Given the description of an element on the screen output the (x, y) to click on. 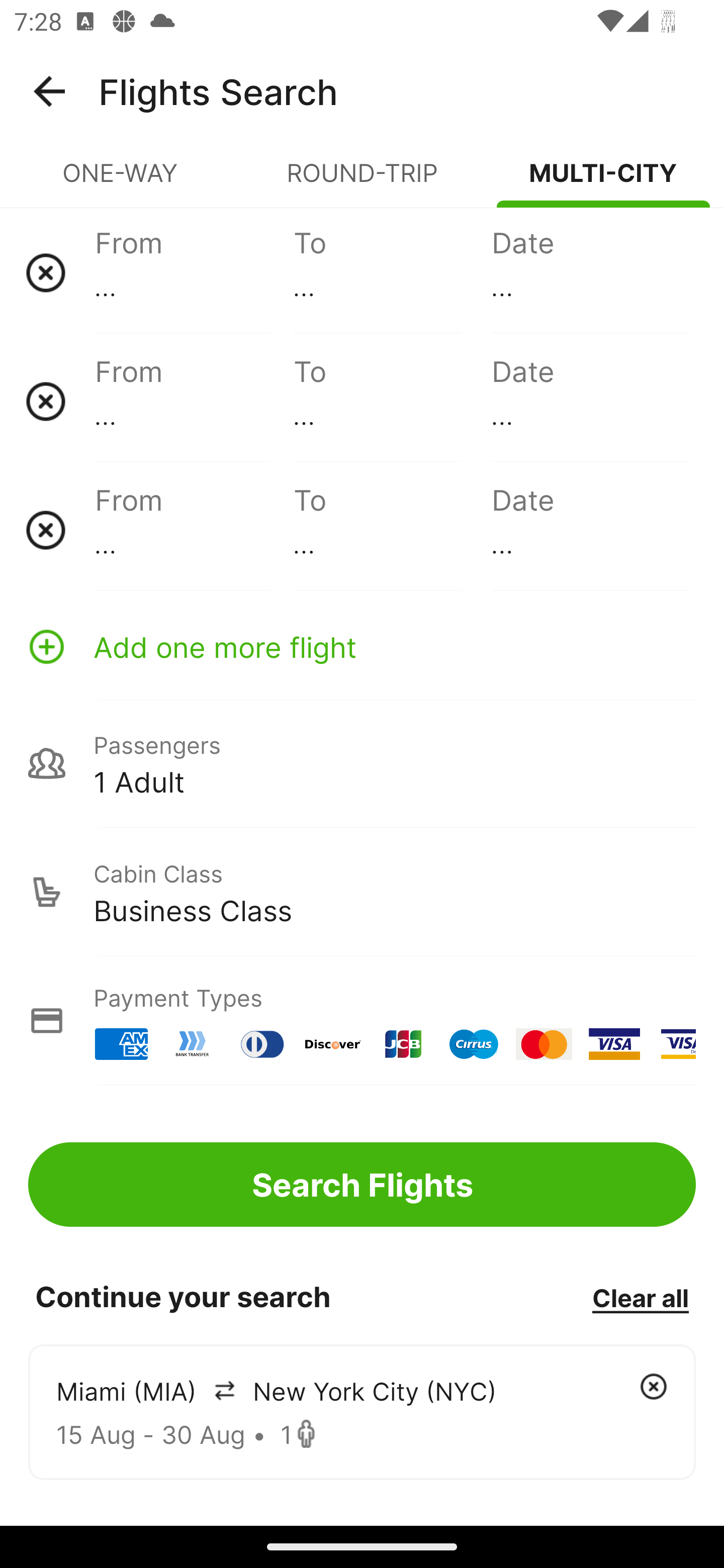
ONE-WAY (120, 180)
ROUND-TRIP (361, 180)
MULTI-CITY (603, 180)
From ⋯ (193, 272)
To ⋯ (392, 272)
Date ⋯ (590, 272)
From ⋯ (193, 401)
To ⋯ (392, 401)
Date ⋯ (590, 401)
From ⋯ (193, 529)
To ⋯ (392, 529)
Date ⋯ (590, 529)
Add one more flight (362, 646)
Passengers 1 Adult (362, 762)
Cabin Class Business Class (362, 891)
Payment Types (362, 1020)
Search Flights (361, 1184)
Clear all (640, 1297)
